Given the description of an element on the screen output the (x, y) to click on. 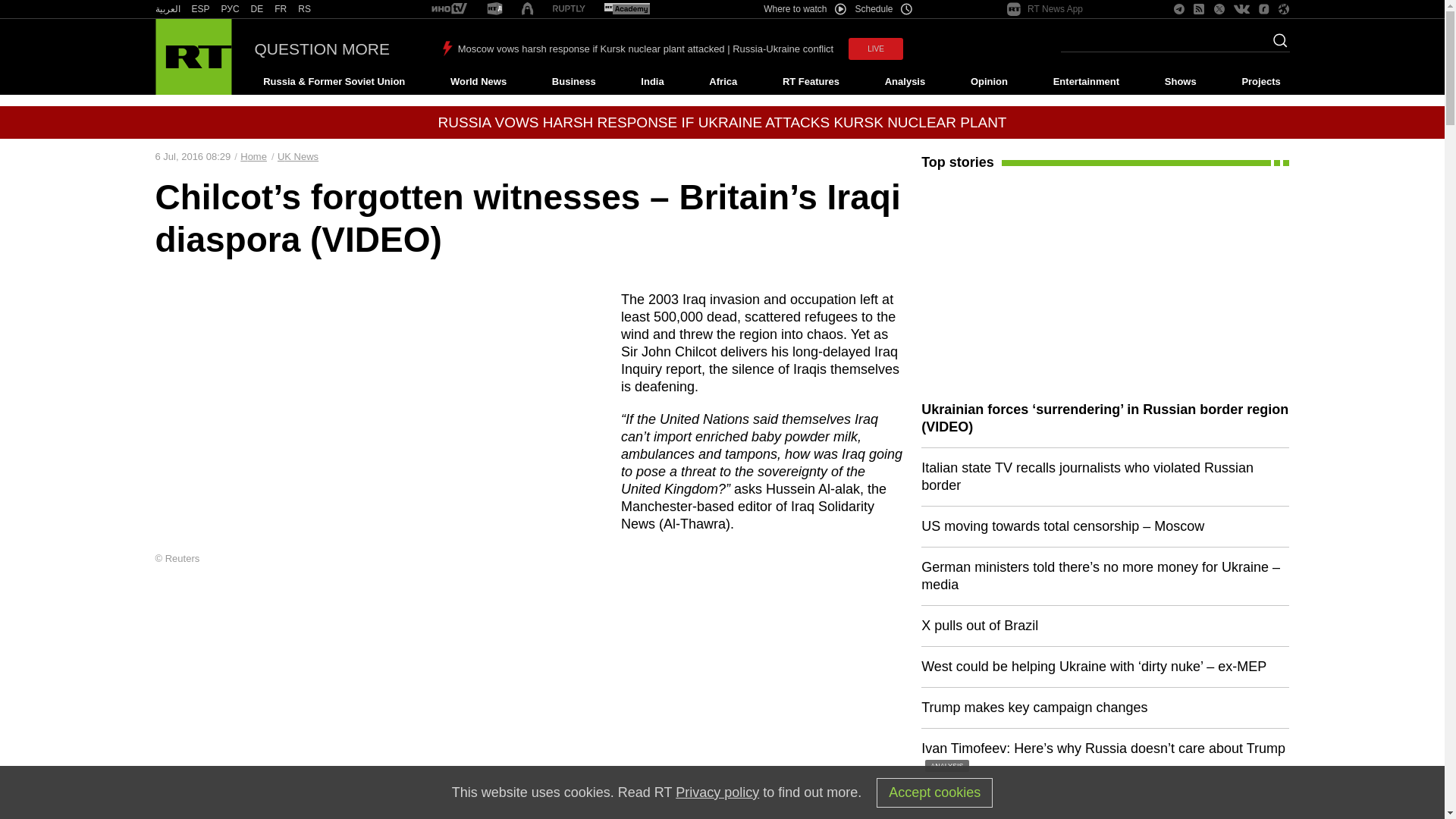
RT  (626, 9)
India (651, 81)
Where to watch (803, 9)
RT Features (810, 81)
Schedule (884, 9)
RT  (494, 9)
Africa (722, 81)
ESP (199, 9)
Search (1276, 44)
Analysis (905, 81)
